Given the description of an element on the screen output the (x, y) to click on. 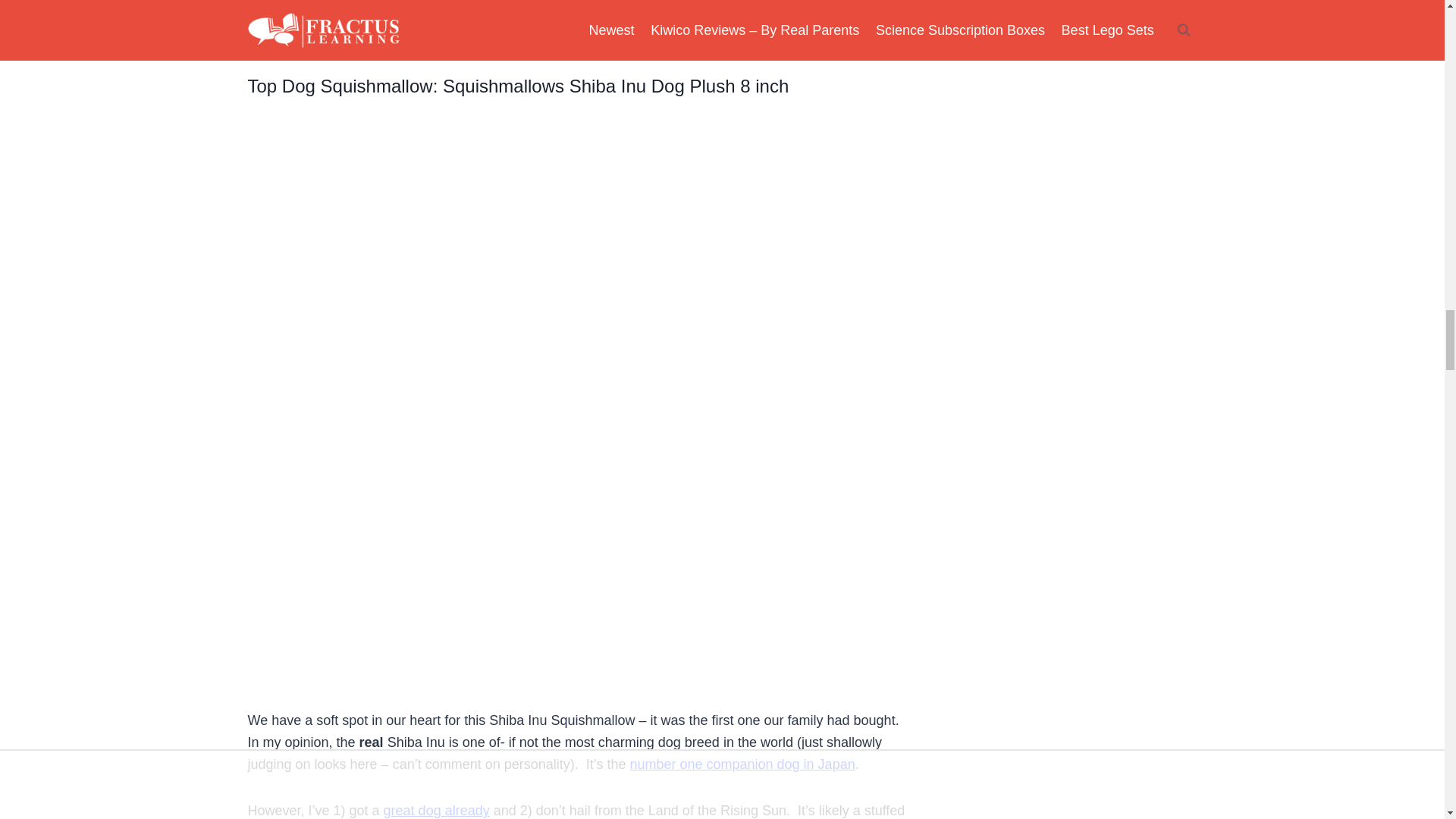
number one companion dog in Japan (741, 764)
Squishmallows Shiba Inu Dog Plush 8 inch (615, 86)
great dog already (436, 810)
